Given the description of an element on the screen output the (x, y) to click on. 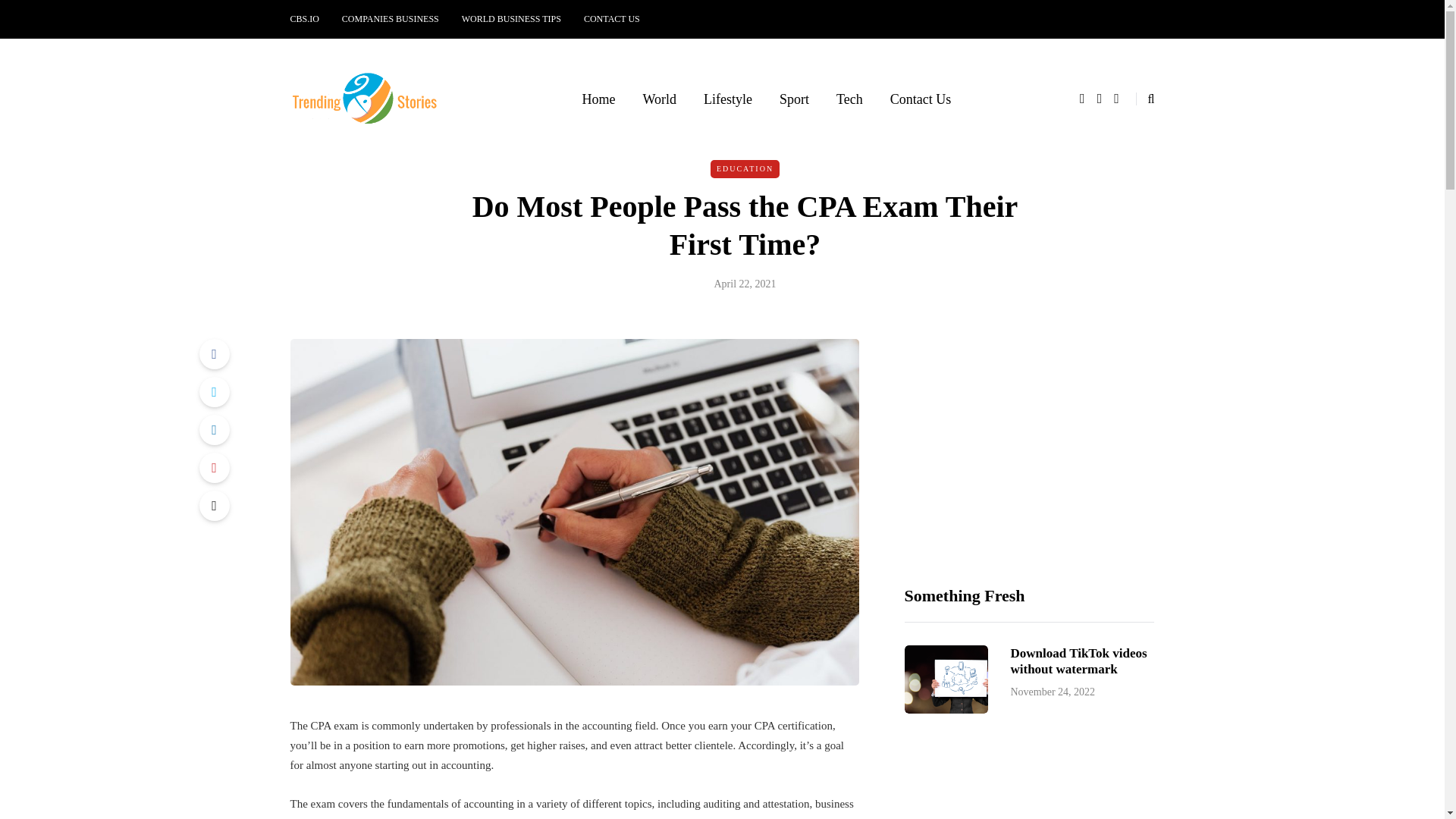
WORLD BUSINESS TIPS (510, 19)
Tech (849, 98)
Share with LinkedIn (213, 429)
Contact Us (920, 98)
World (659, 98)
Tweet this (213, 391)
Home (597, 98)
Lifestyle (727, 98)
Sport (793, 98)
CBS.IO (309, 19)
Share with Facebook (213, 354)
Pin this (213, 467)
CONTACT US (611, 19)
Advertisement (1029, 443)
COMPANIES BUSINESS (389, 19)
